Given the description of an element on the screen output the (x, y) to click on. 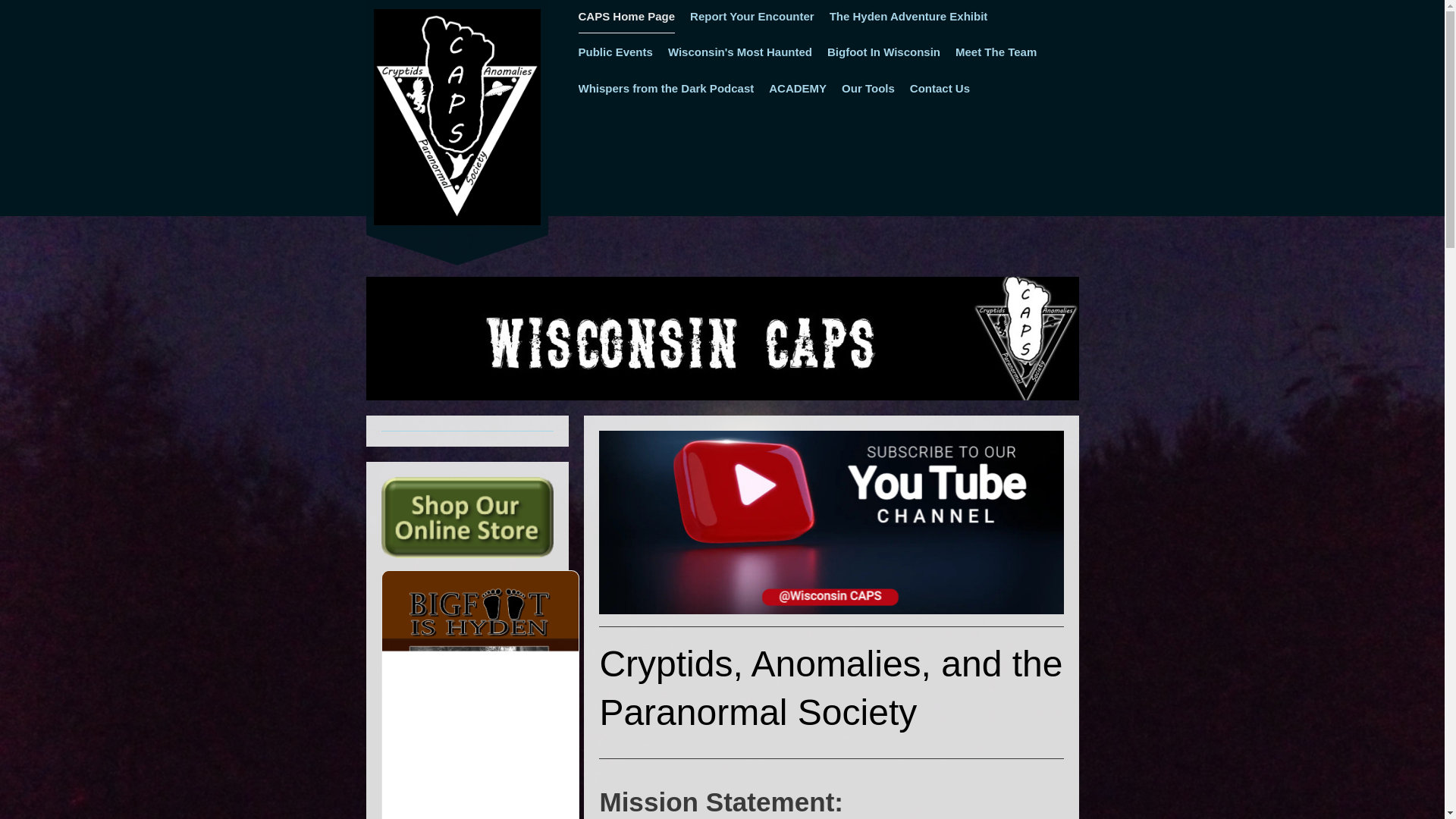
Wisconsin's Most Haunted (740, 52)
Contact Us (939, 87)
Our Tools (868, 87)
Public Events (615, 52)
CAPS Home Page (626, 16)
Report Your Encounter (751, 16)
Meet The Team (995, 52)
The Hyden Adventure Exhibit (908, 16)
Whispers from the Dark Podcast (666, 87)
Bigfoot In Wisconsin (883, 52)
